Given the description of an element on the screen output the (x, y) to click on. 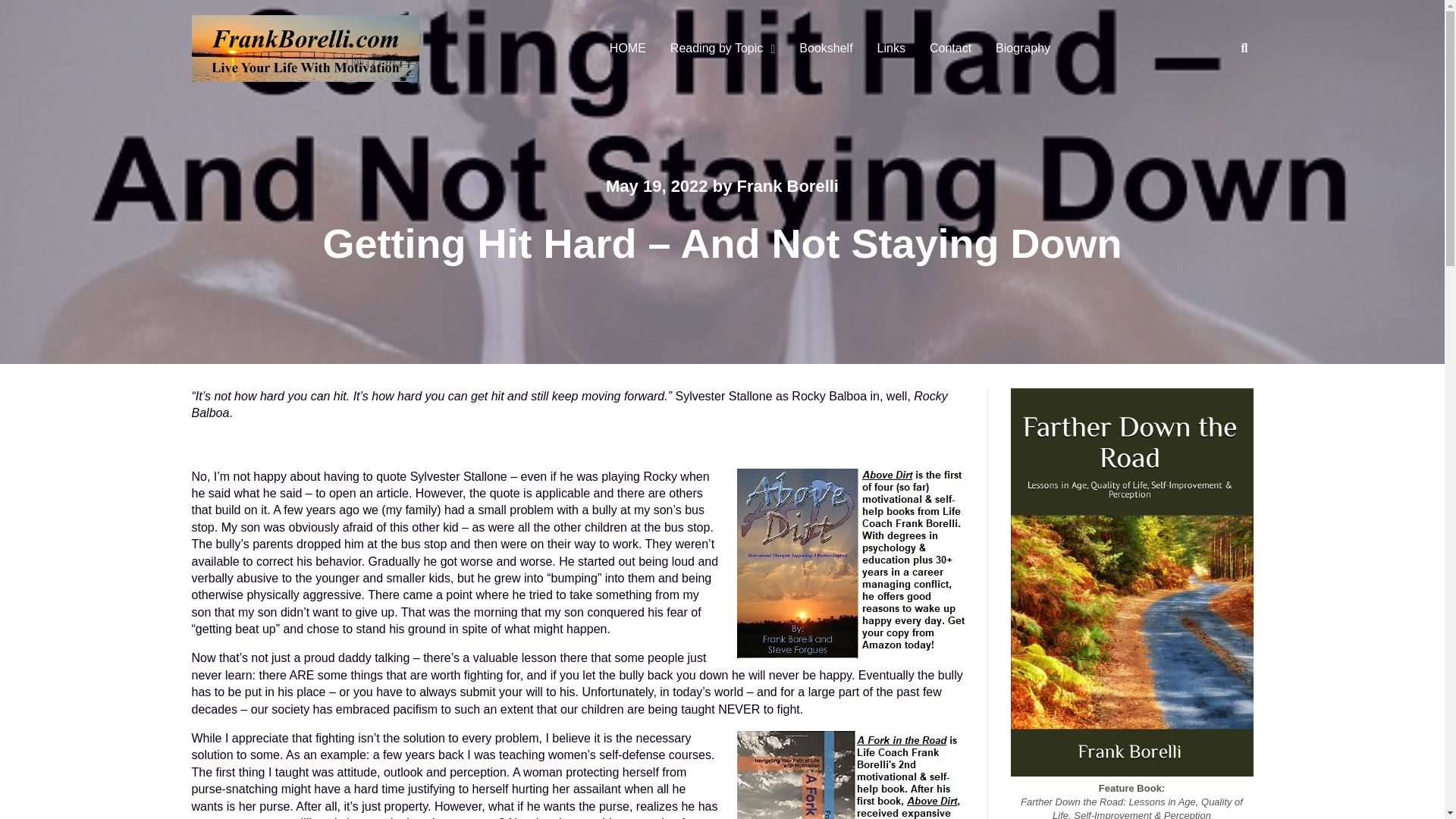
Bookshelf (825, 48)
Contact (950, 48)
Links (890, 48)
Reading by Topic (719, 48)
HOME (627, 48)
Search (1229, 101)
Biography (1023, 48)
Links (890, 48)
